Given the description of an element on the screen output the (x, y) to click on. 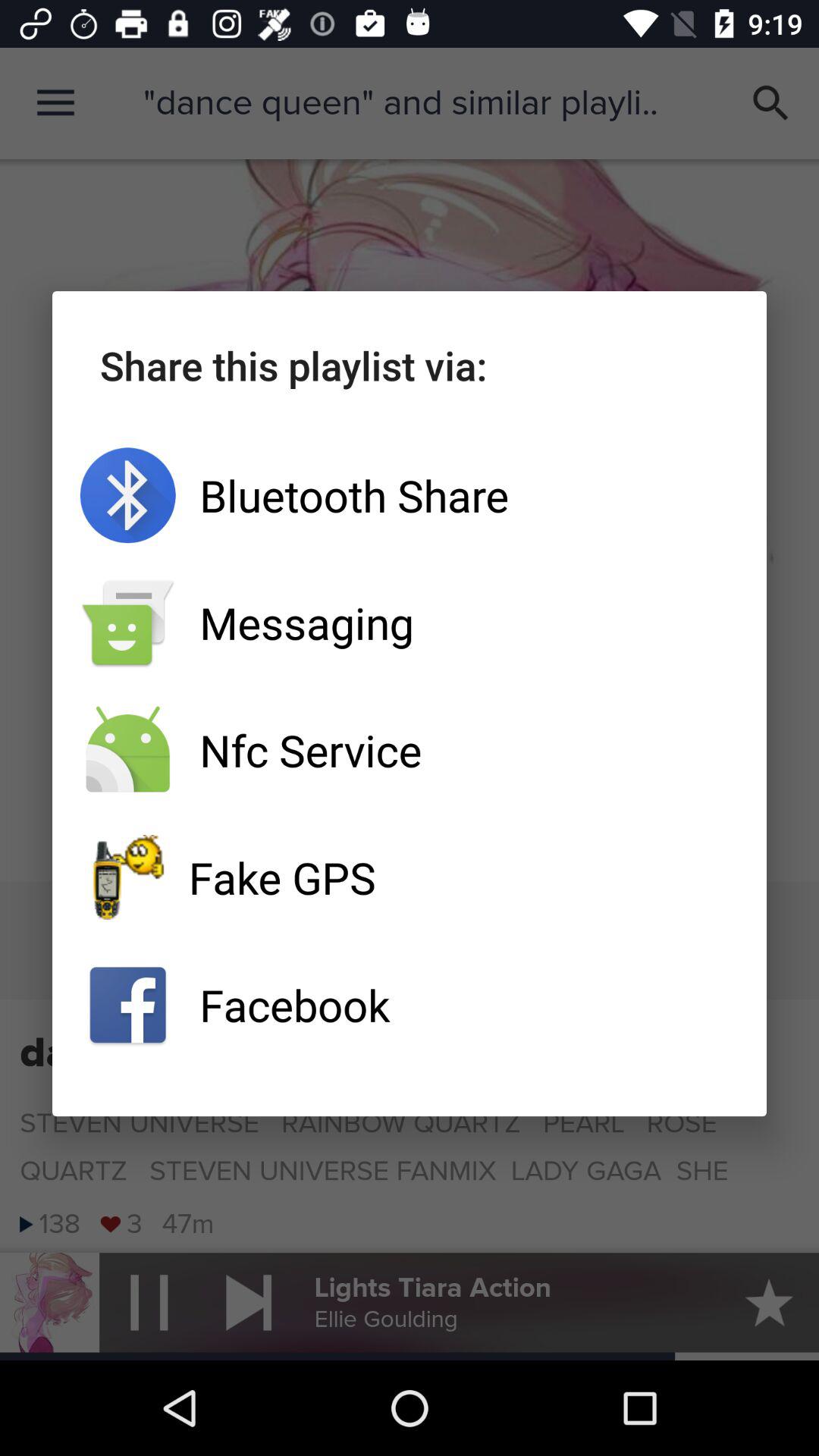
turn off nfc service icon (409, 749)
